Given the description of an element on the screen output the (x, y) to click on. 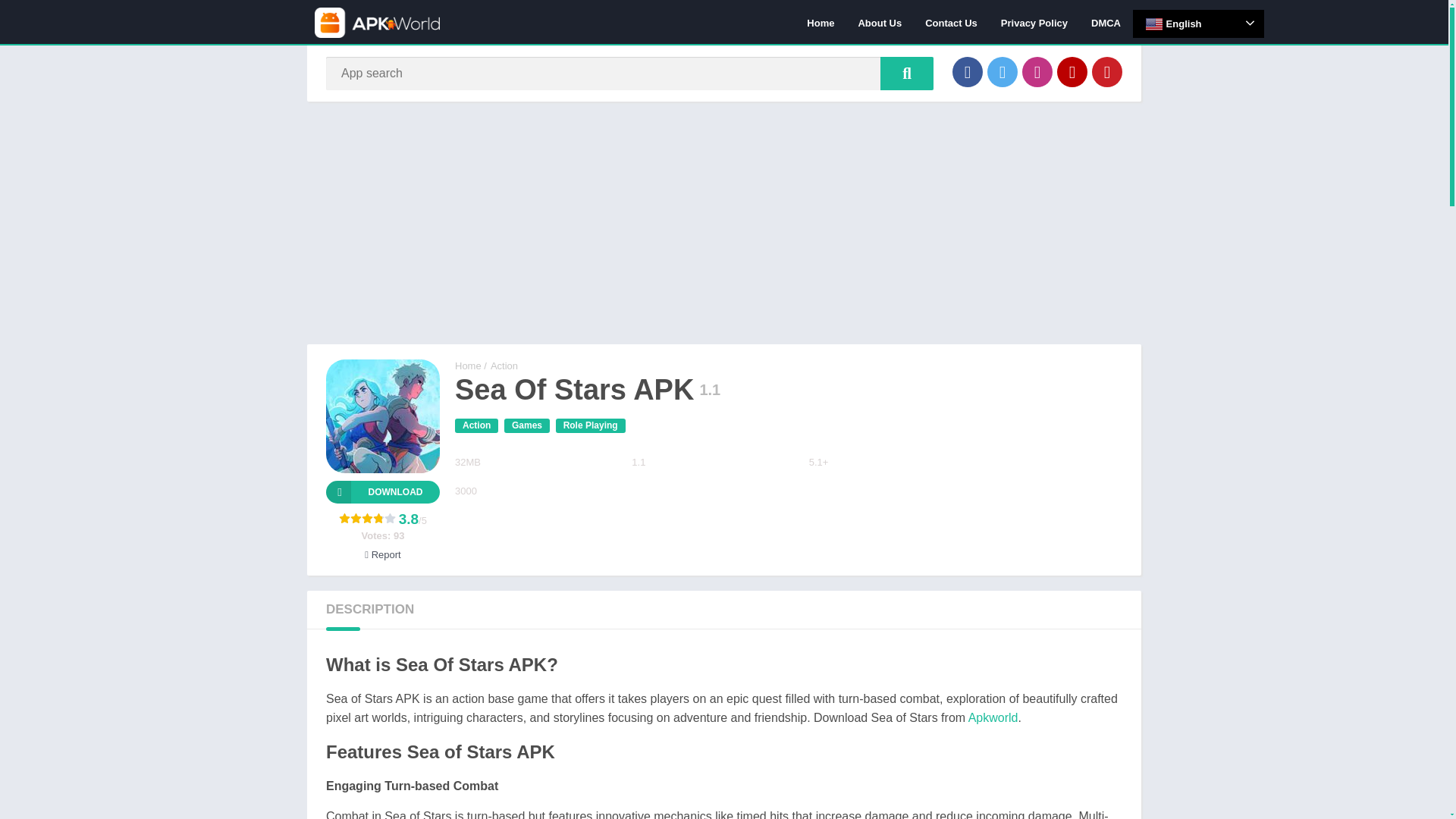
Twitter (1002, 71)
DMCA (1106, 22)
Action (475, 425)
Home (467, 365)
Facebook (967, 71)
DOWNLOAD (382, 491)
Privacy Policy (1034, 22)
YouTube (1072, 71)
Instagram (1037, 71)
APK World (467, 365)
Pinterest (1107, 71)
Contact Us (951, 22)
Apkworld (992, 717)
Download (382, 491)
Home (819, 22)
